Given the description of an element on the screen output the (x, y) to click on. 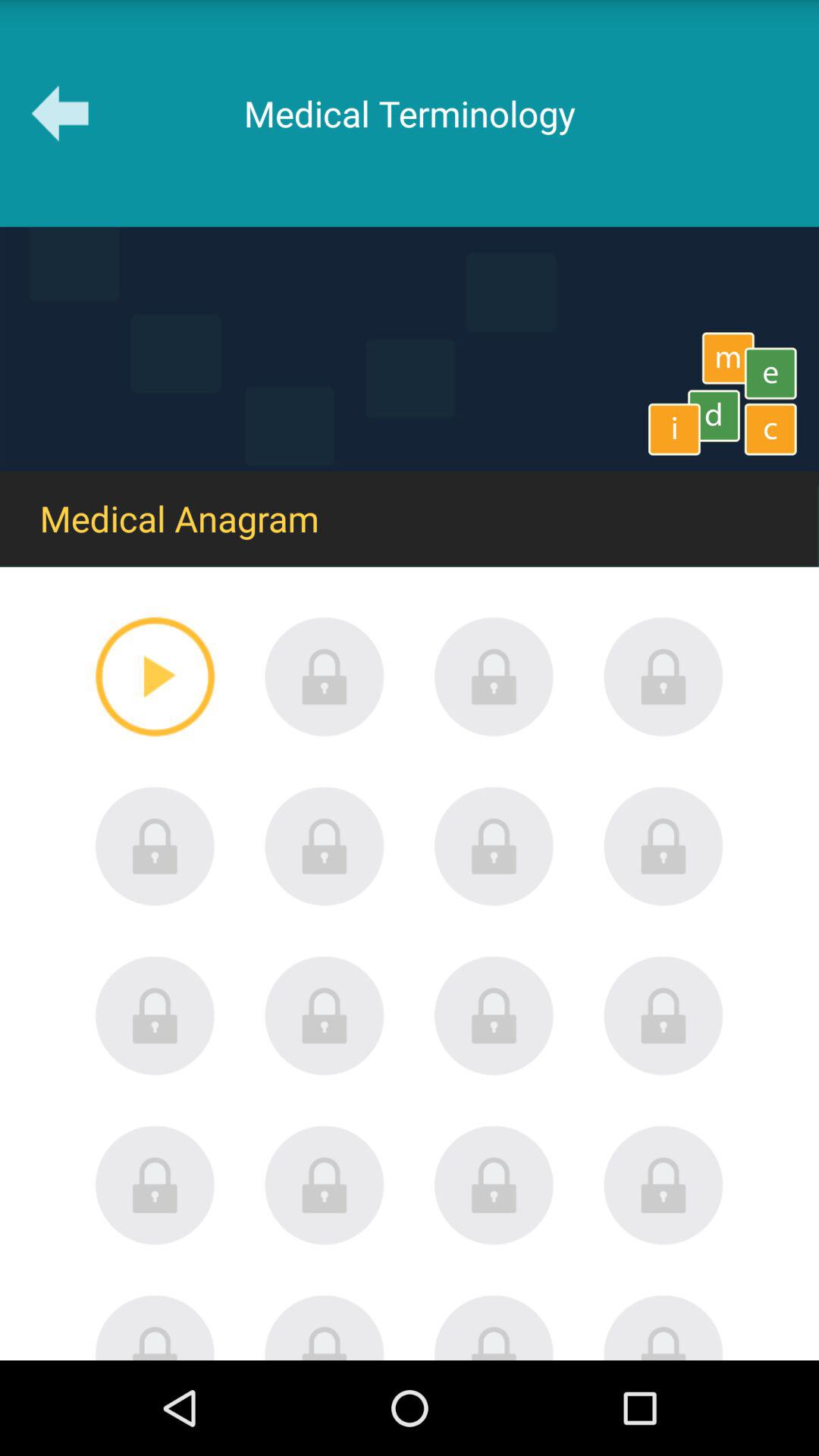
lock option (493, 1327)
